Given the description of an element on the screen output the (x, y) to click on. 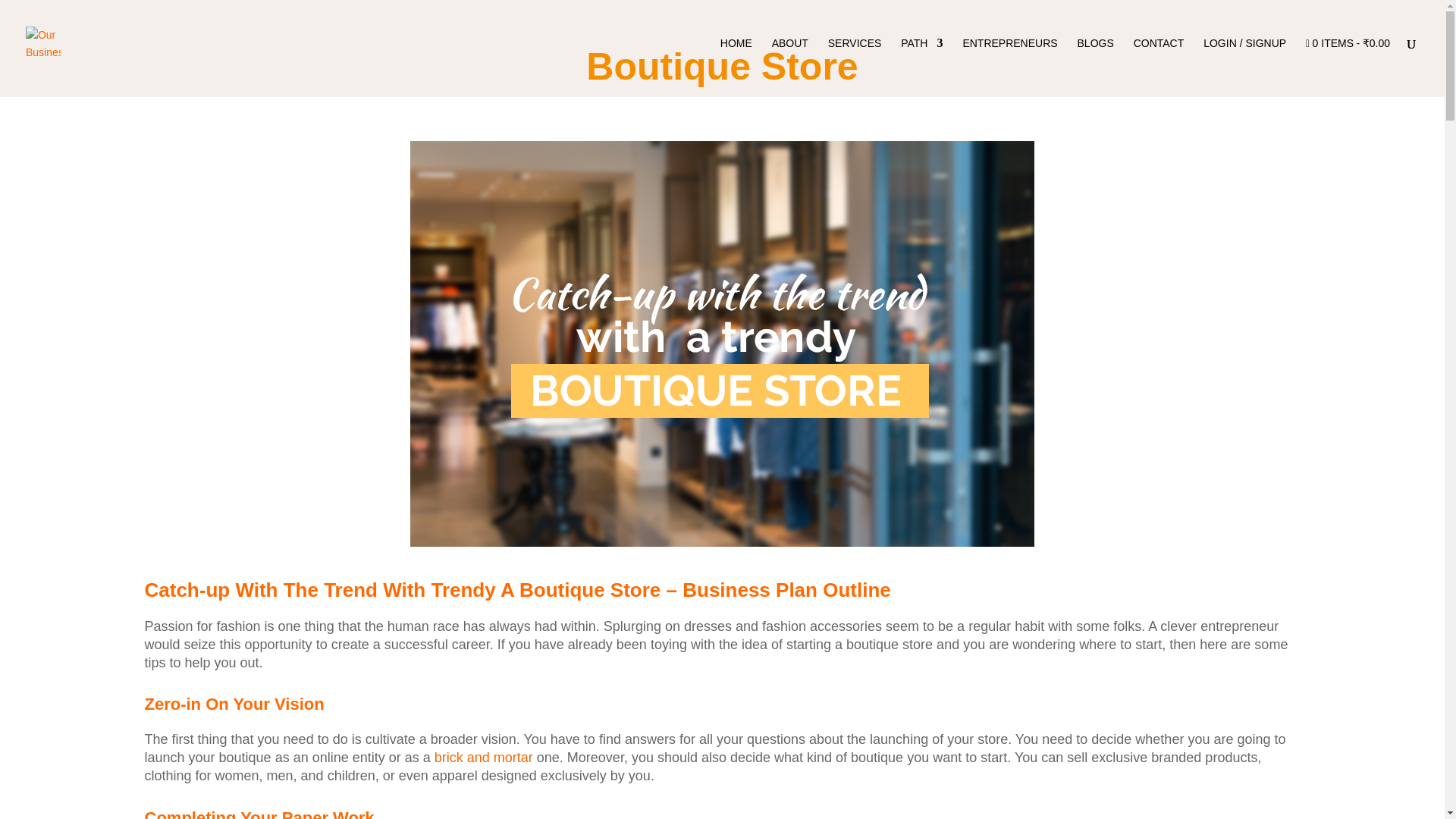
SERVICES (855, 61)
ENTREPRENEURS (1009, 61)
brick and mortar (482, 757)
CONTACT (1159, 61)
Start shopping (1348, 62)
